Given the description of an element on the screen output the (x, y) to click on. 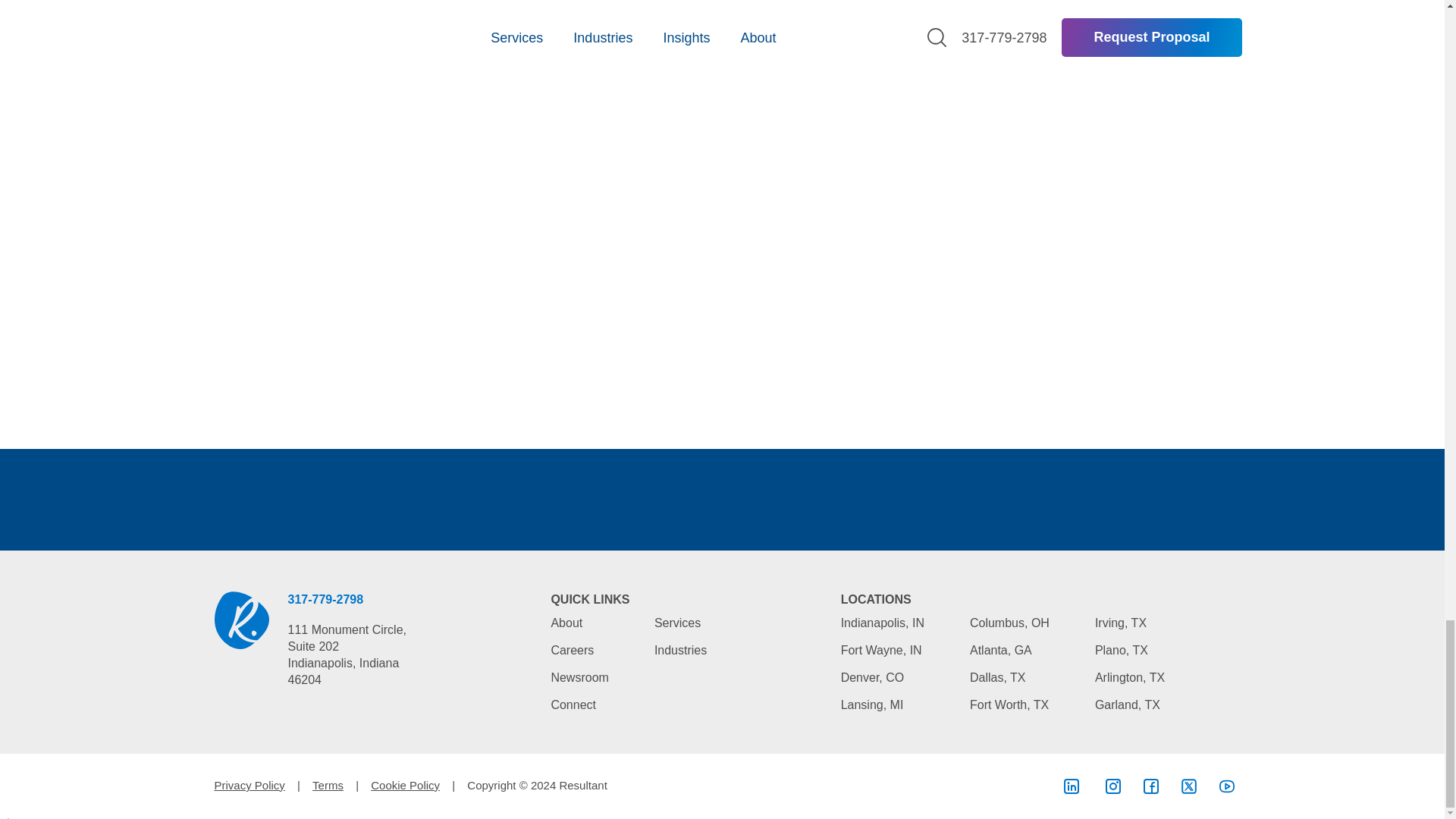
Instagram (1113, 785)
Facebook (1150, 785)
YouTube (1227, 785)
X (1188, 785)
LinkedIn (1070, 785)
Resultant logo (240, 620)
